Given the description of an element on the screen output the (x, y) to click on. 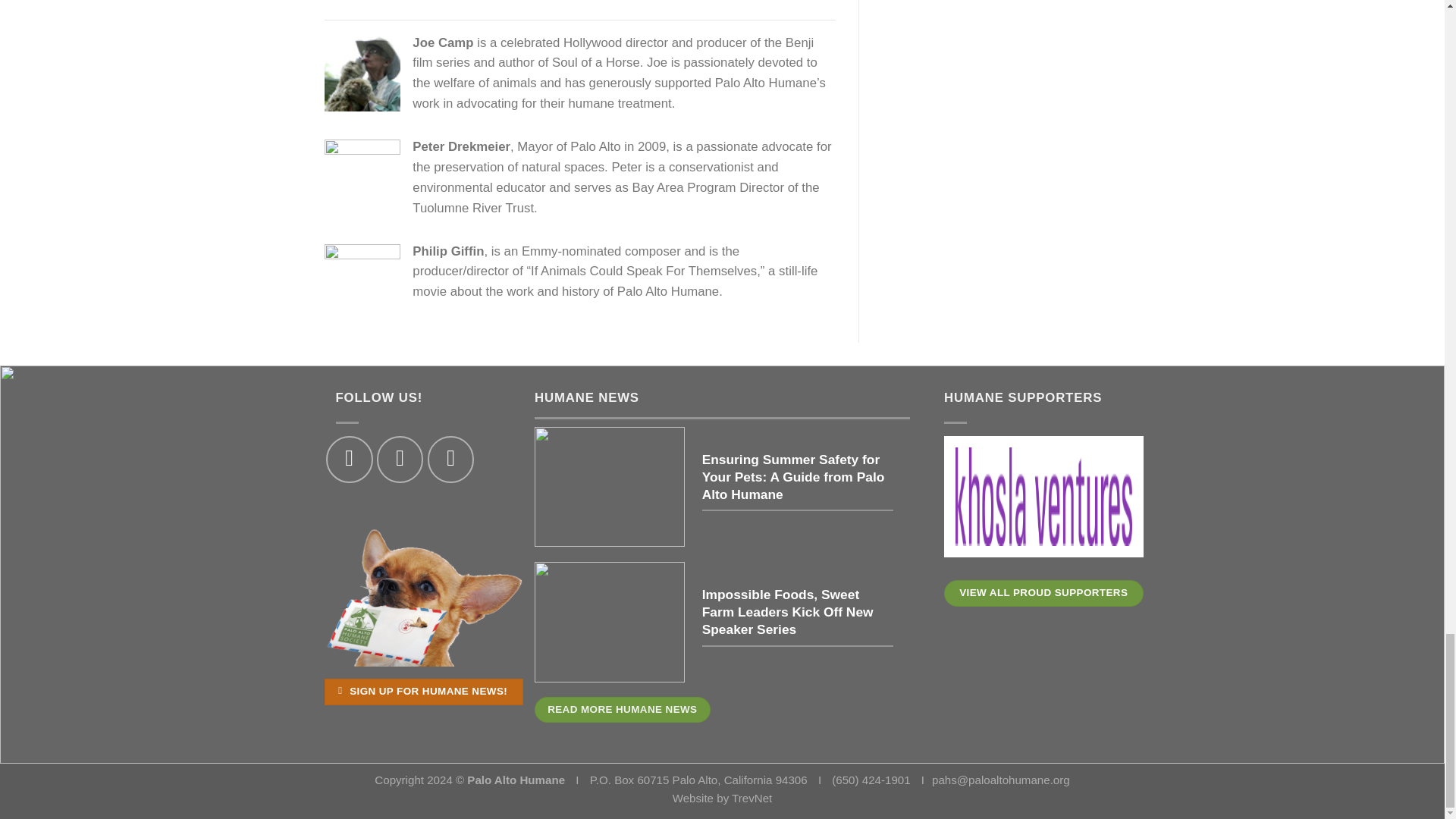
Follow on Facebook (349, 458)
Follow on YouTube (451, 458)
Follow on Twitter (400, 458)
